Given the description of an element on the screen output the (x, y) to click on. 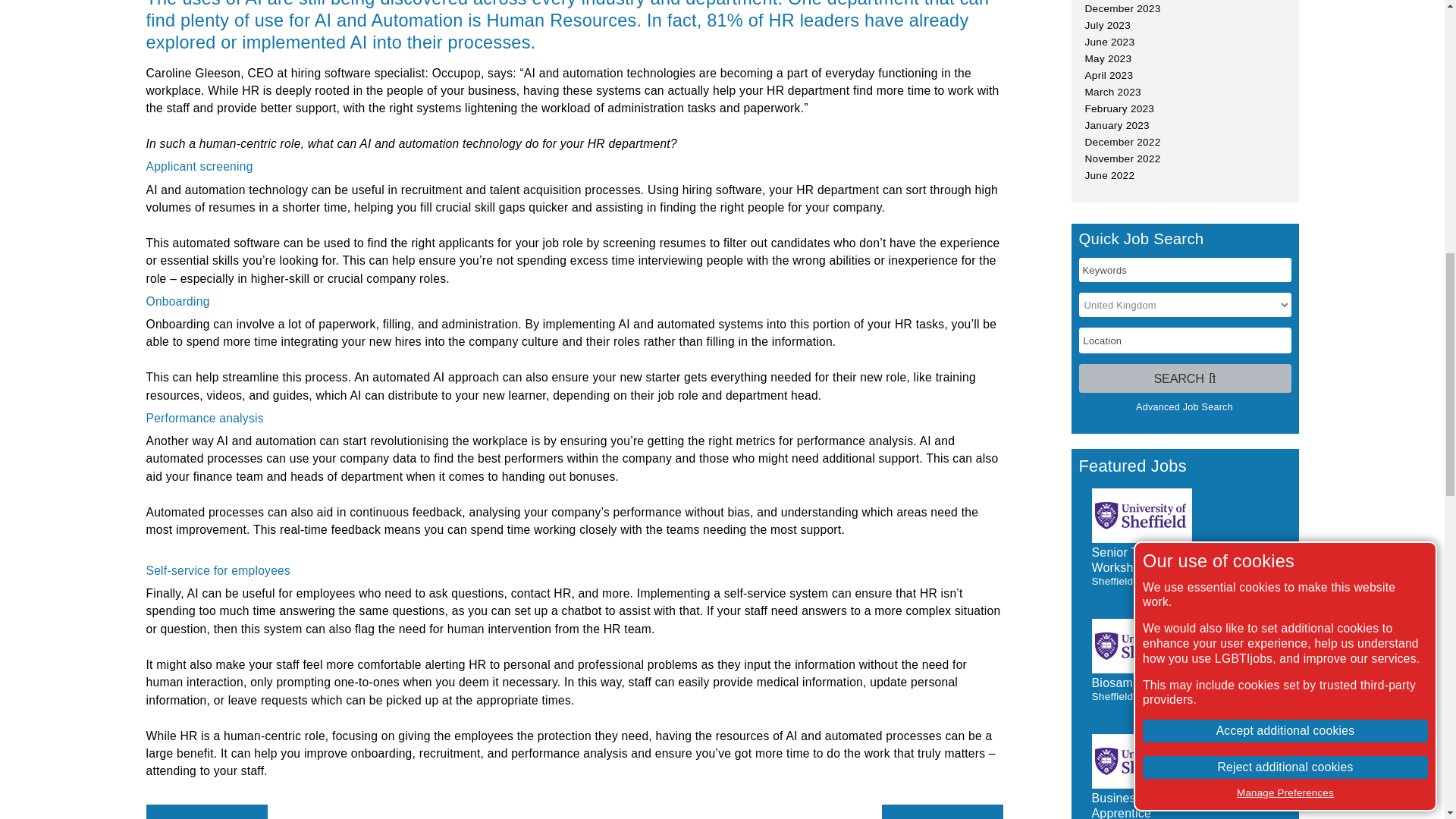
Keywords (1185, 269)
The University of Sheffield (1142, 646)
Biosampling Co-ordinator (1161, 682)
Business Administration Apprentice (1158, 805)
Previous Post (205, 811)
Next Post (941, 811)
The University of Sheffield (1142, 515)
The University of Sheffield (1142, 760)
Senior Technician: Mechanical Workshop (1176, 560)
